Given the description of an element on the screen output the (x, y) to click on. 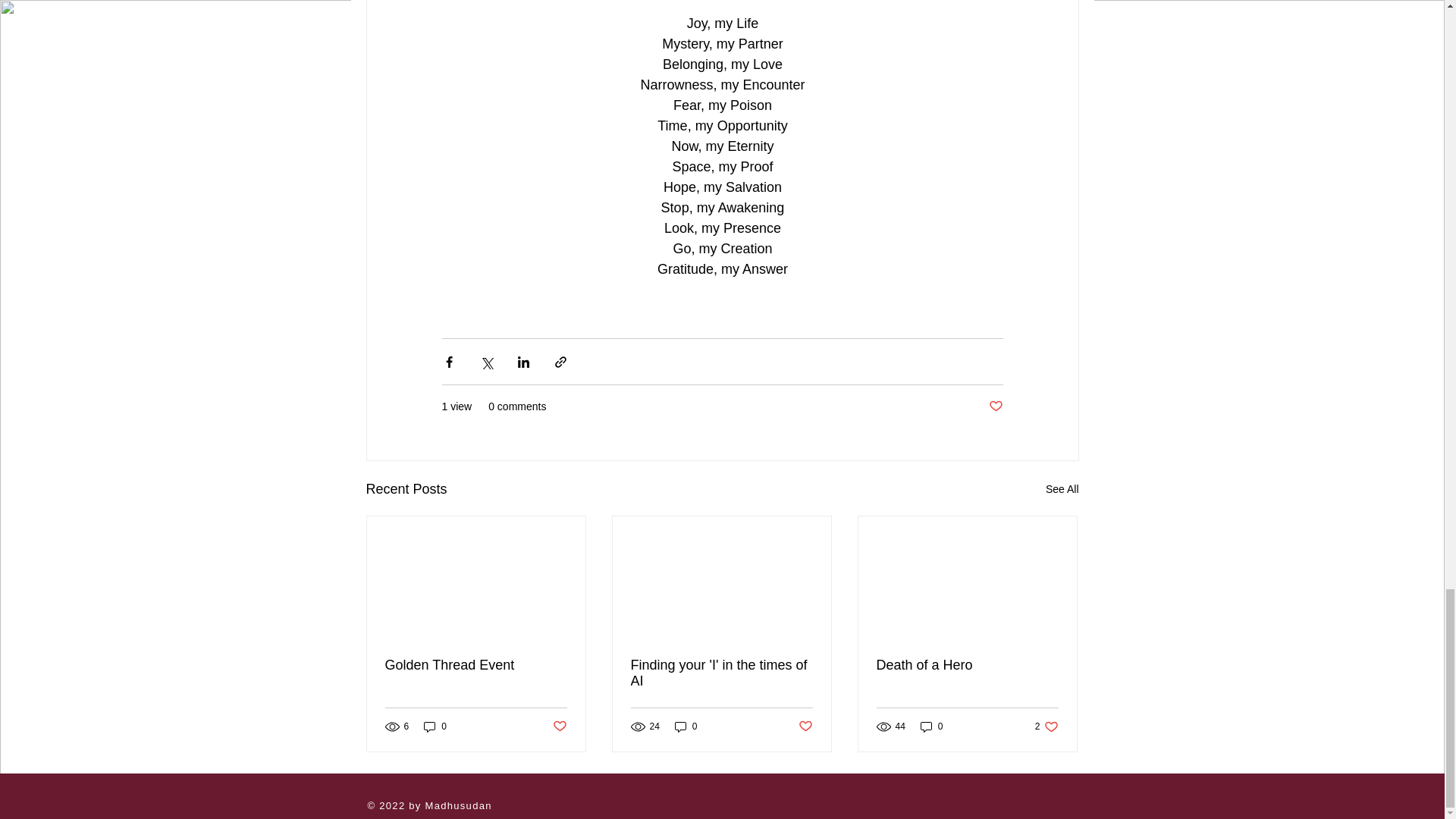
Golden Thread Event (476, 665)
Post not marked as liked (995, 406)
See All (1061, 489)
0 (435, 726)
